Given the description of an element on the screen output the (x, y) to click on. 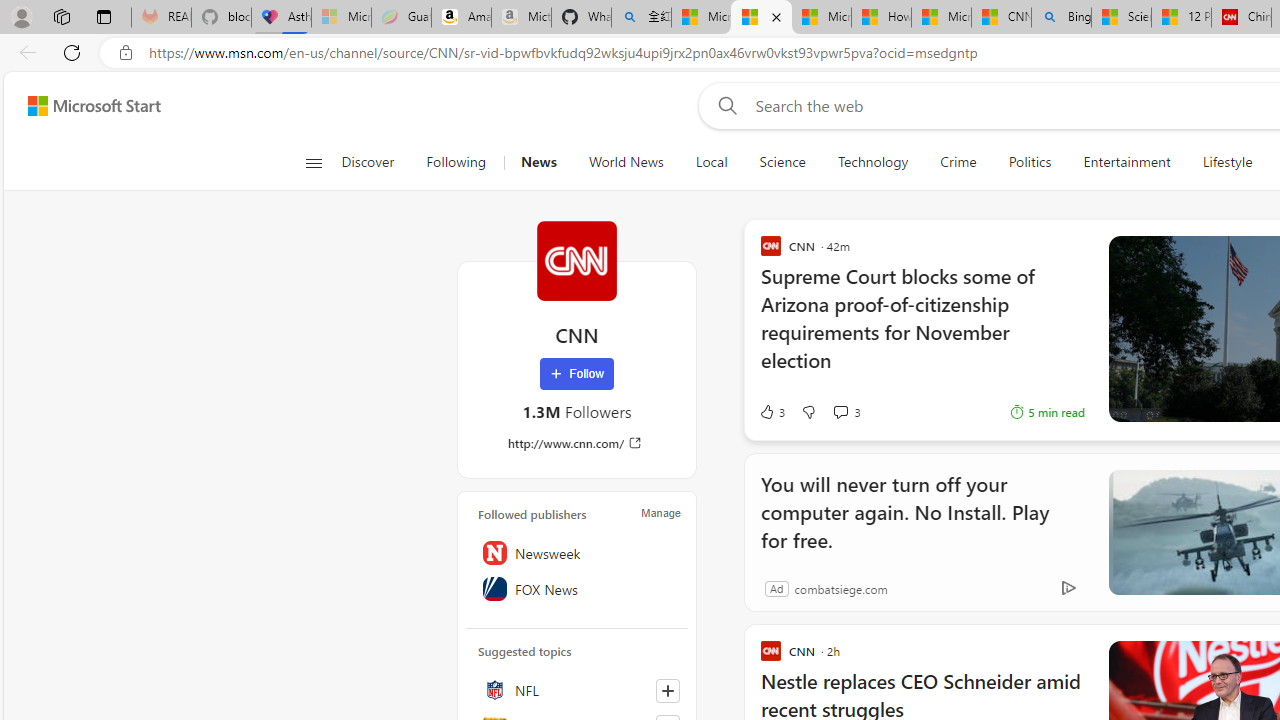
12 Popular Science Lies that Must be Corrected (1181, 17)
Skip to content (86, 105)
Lifestyle (1227, 162)
Ad (776, 588)
CNN (576, 260)
Discover (367, 162)
Microsoft-Report a Concern to Bing - Sleeping (341, 17)
CNN - MSN (1000, 17)
Class: button-glyph (313, 162)
